Given the description of an element on the screen output the (x, y) to click on. 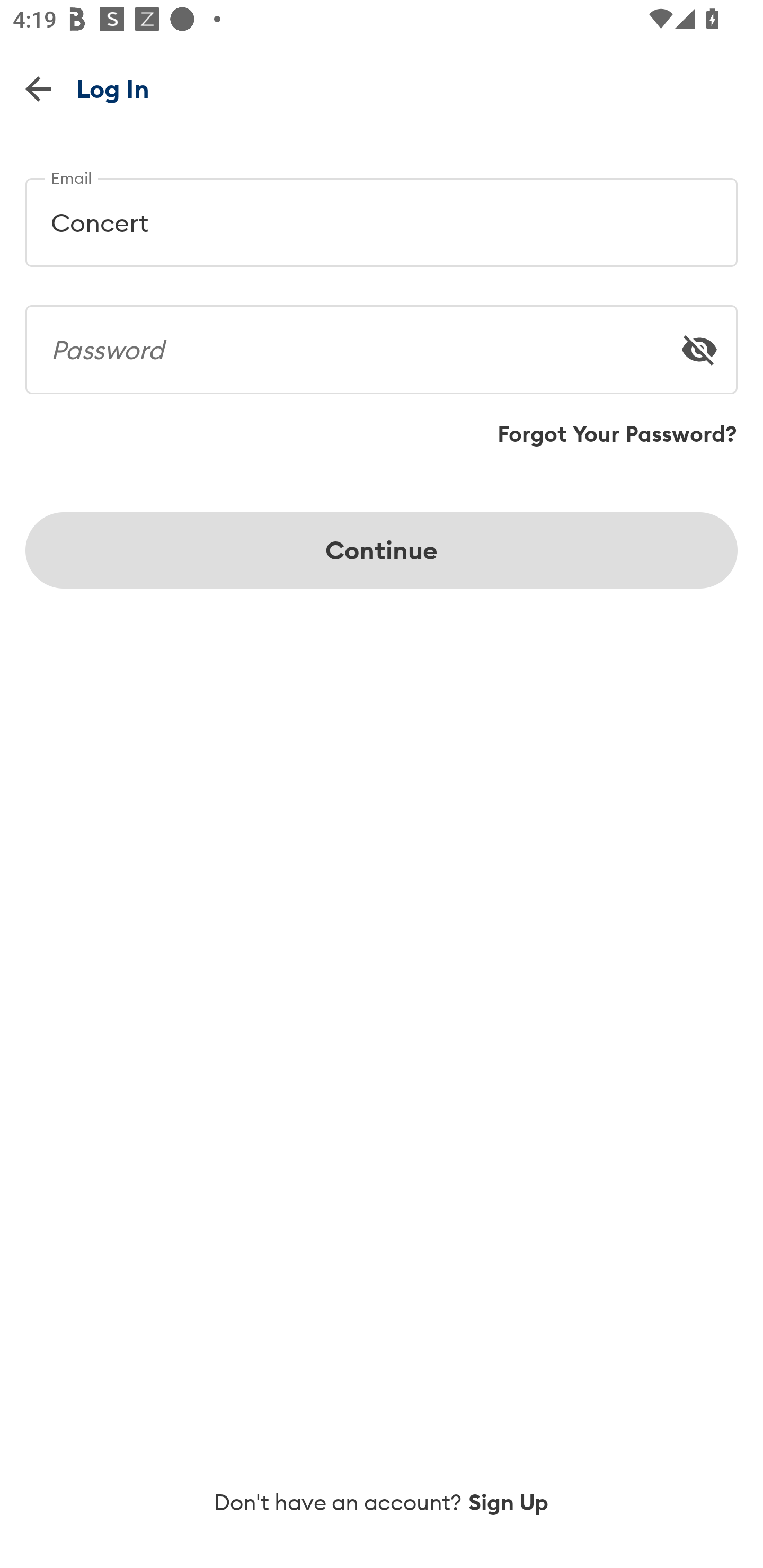
Back (38, 88)
Concert Email (381, 215)
Password (381, 342)
Forgot Your Password? (617, 433)
Continue (381, 550)
Sign Up (508, 1502)
